Given the description of an element on the screen output the (x, y) to click on. 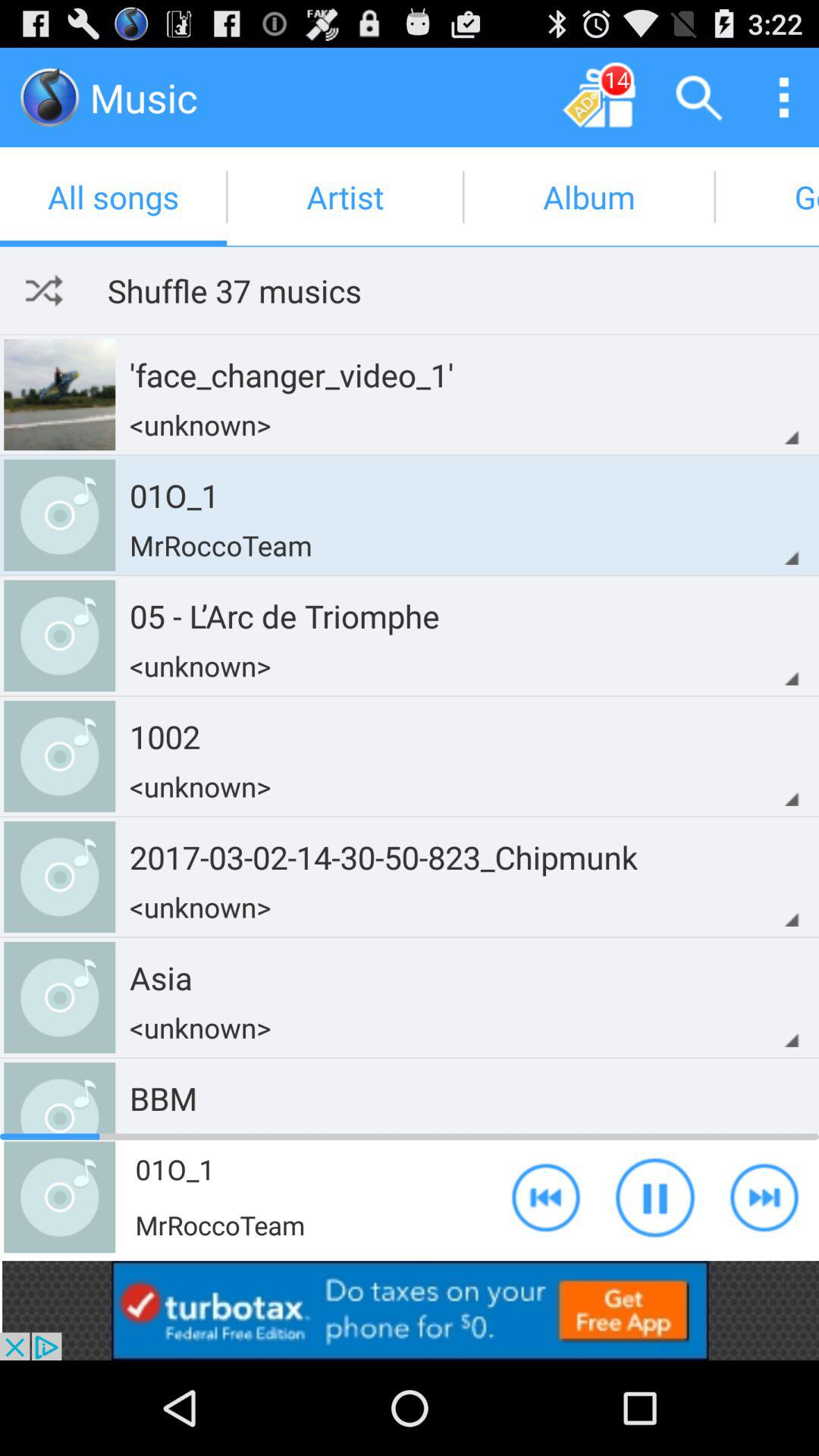
press to stop (654, 1196)
